Given the description of an element on the screen output the (x, y) to click on. 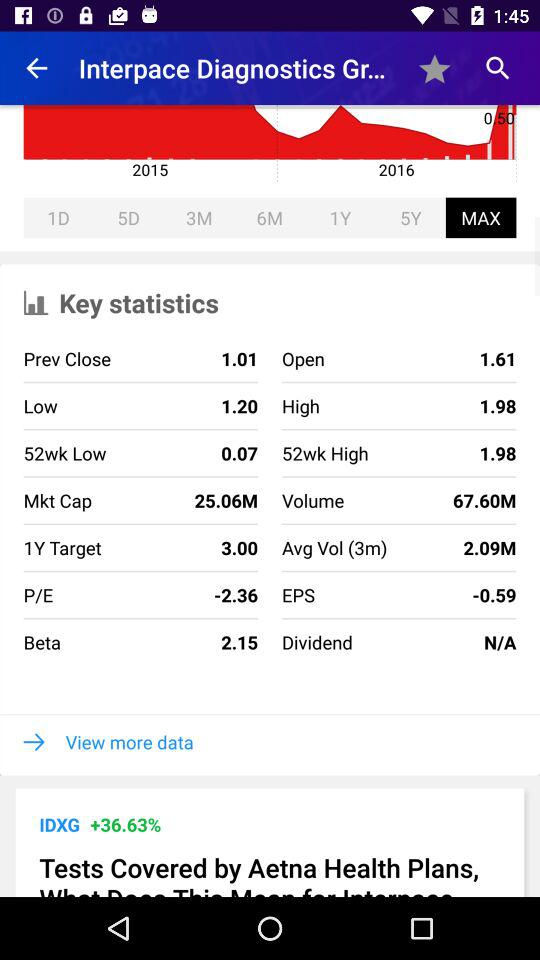
choose item to the right of the -2.36 item (316, 642)
